Given the description of an element on the screen output the (x, y) to click on. 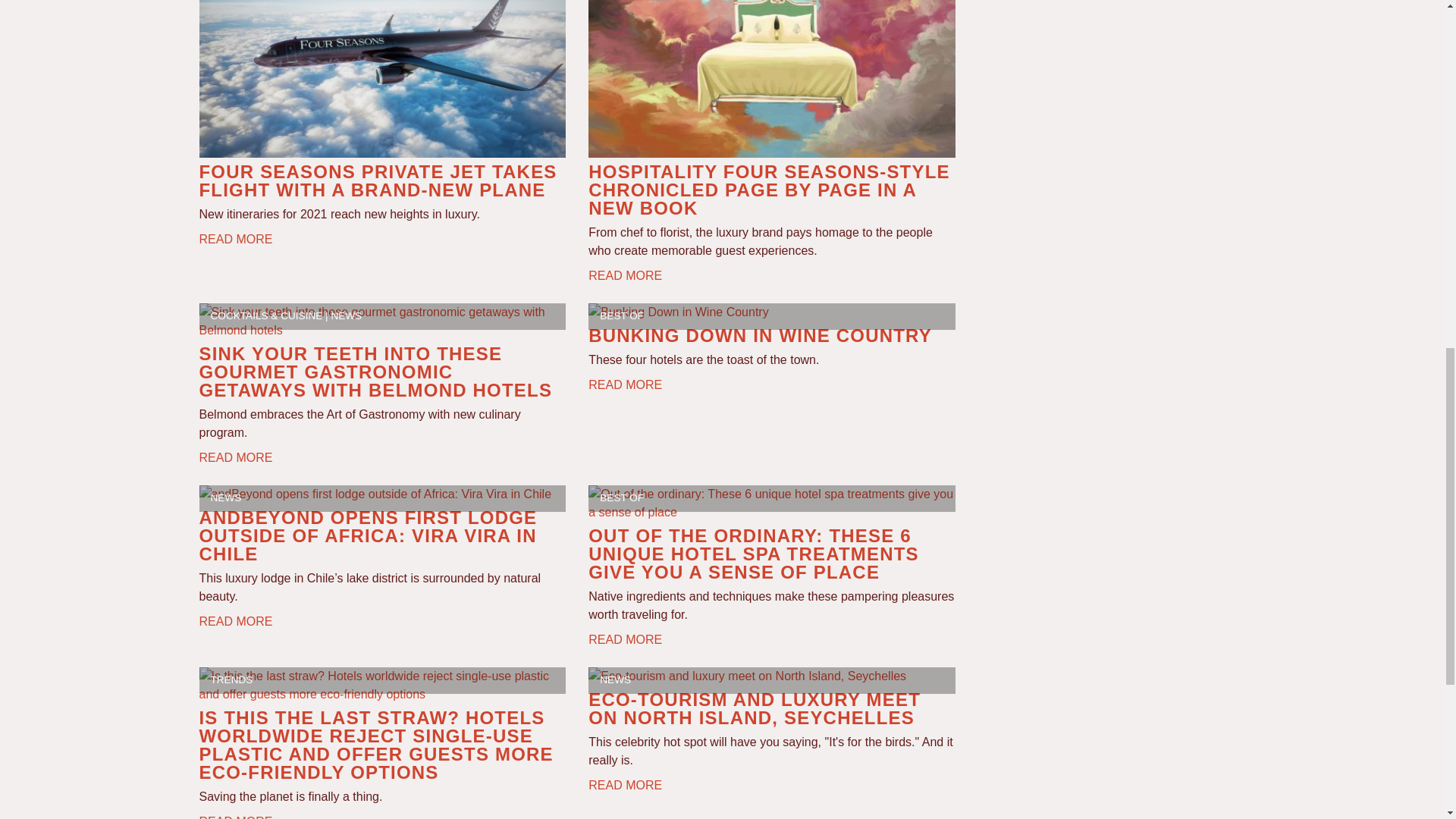
FOUR SEASONS PRIVATE JET TAKES FLIGHT WITH A BRAND-NEW PLANE (377, 180)
NEWS (345, 315)
BEST OF (621, 315)
READ MORE (625, 274)
READ MORE (235, 456)
READ MORE (235, 237)
